Given the description of an element on the screen output the (x, y) to click on. 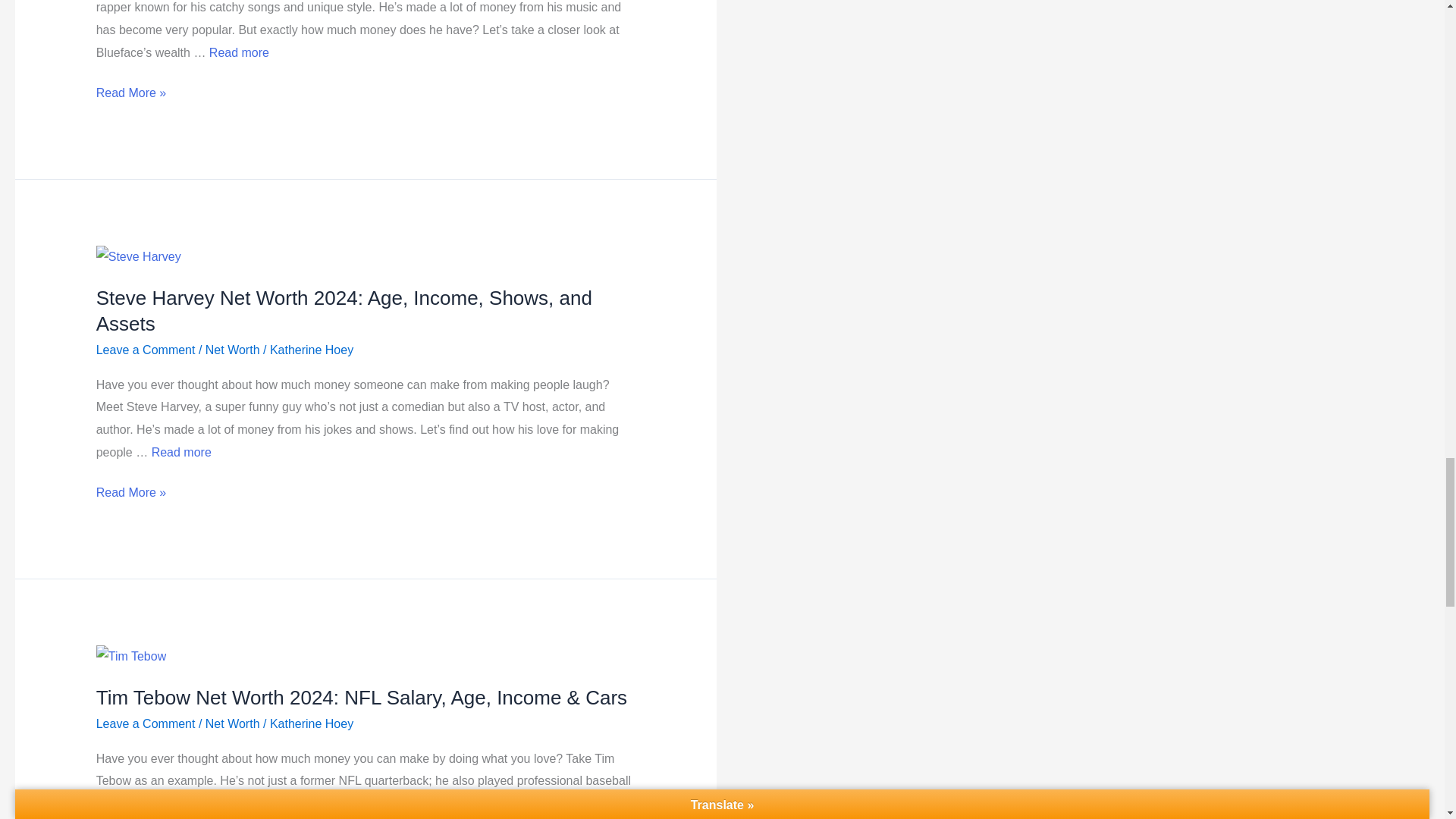
View all posts by Katherine Hoey (311, 723)
Steve Harvey Net Worth 2024: Age, Income, Shows, and Assets (181, 451)
View all posts by Katherine Hoey (311, 349)
